Given the description of an element on the screen output the (x, y) to click on. 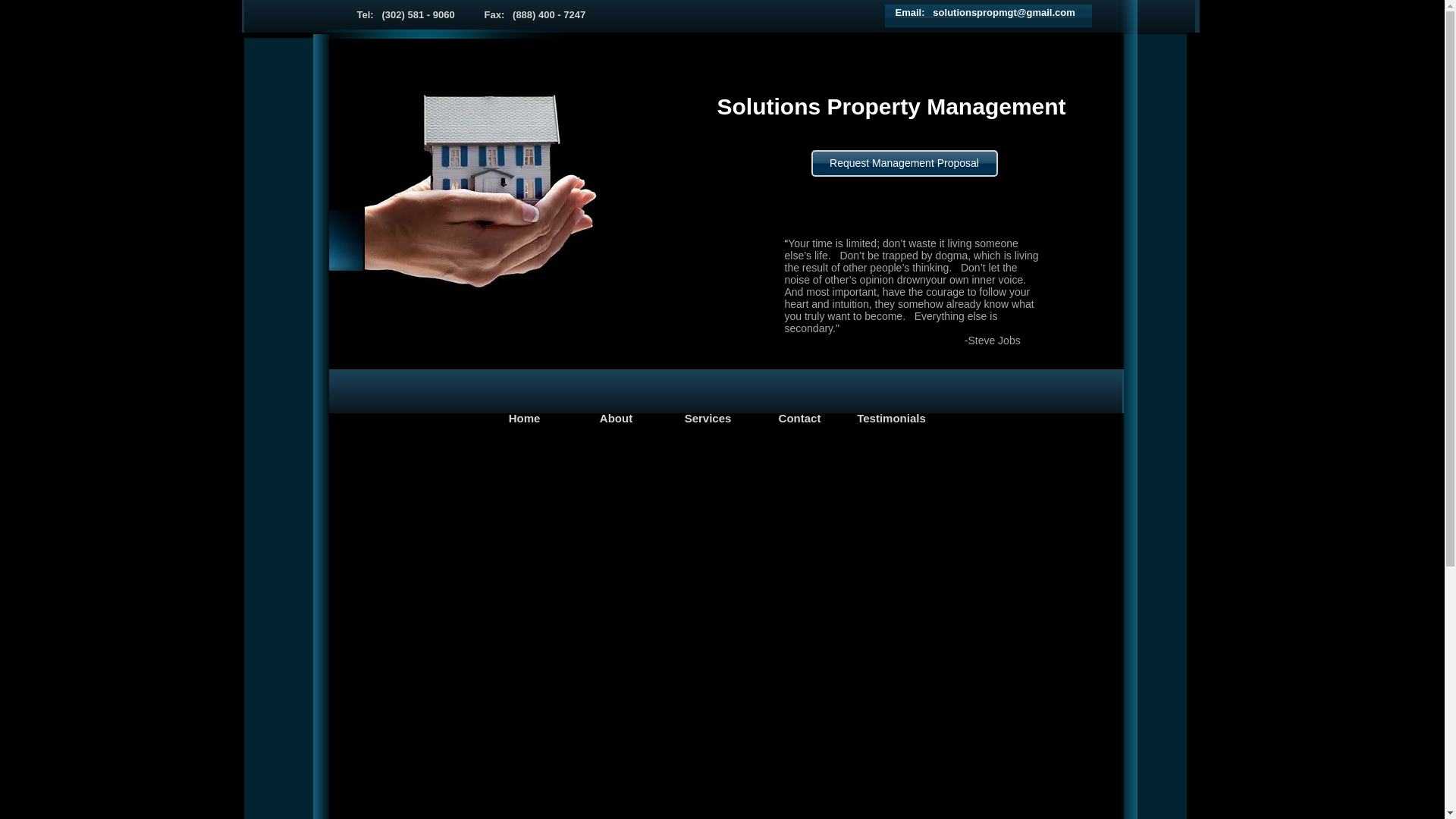
About (616, 418)
Testimonials (891, 418)
Request Management Proposal (903, 162)
Services (708, 418)
Contact (799, 418)
Home (524, 418)
Solutions Property.jpeg (520, 172)
